Given the description of an element on the screen output the (x, y) to click on. 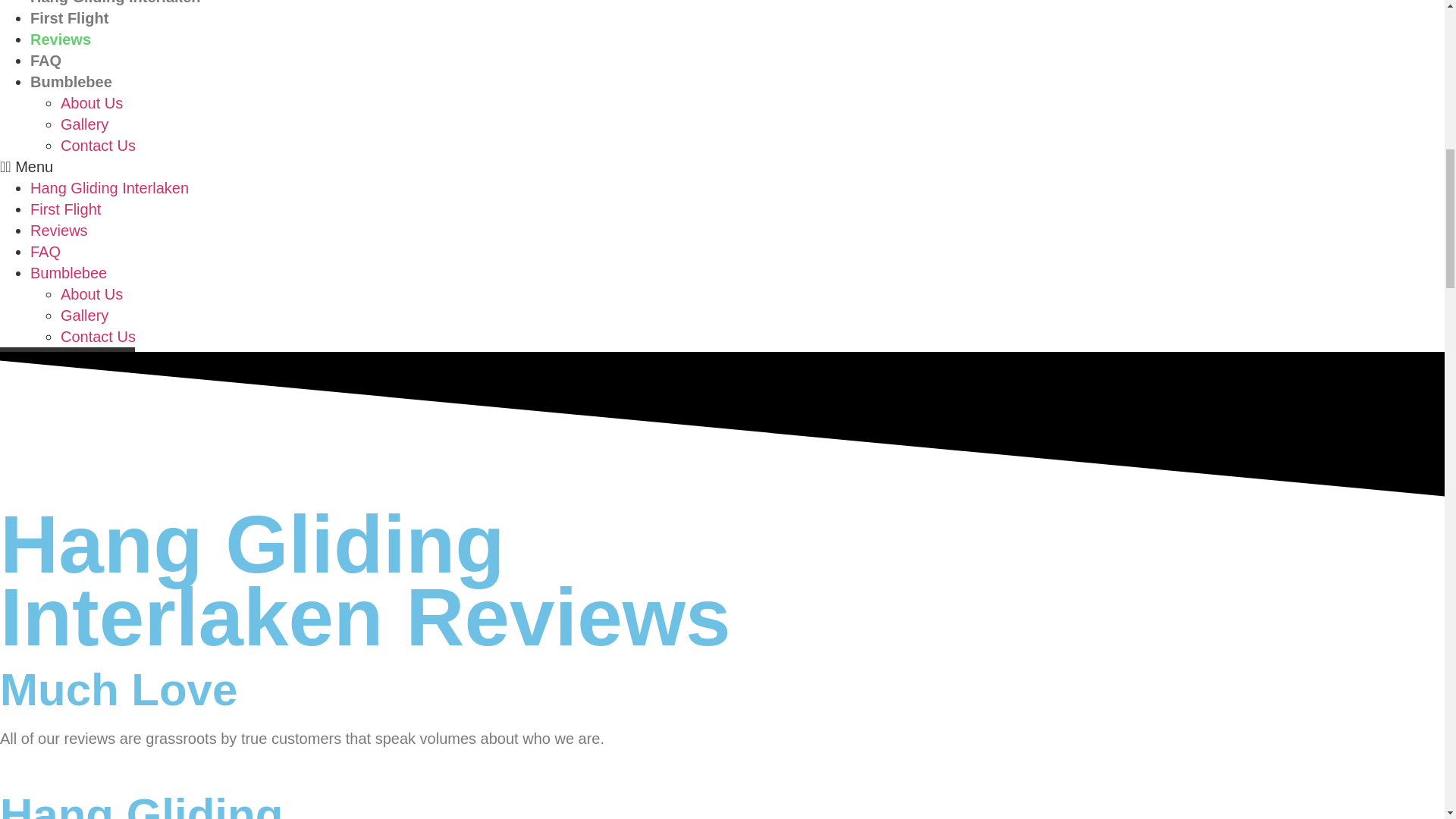
FAQ (45, 60)
Bumblebee (68, 272)
Gallery (84, 124)
Hang Gliding Interlaken (115, 2)
Gallery (84, 315)
Reviews (60, 39)
Contact Us (98, 145)
About Us (91, 103)
First Flight (65, 208)
FAQ (45, 251)
Bumblebee (71, 81)
Contact Us (98, 336)
Reviews (58, 230)
First Flight (68, 17)
Hang Gliding Interlaken (109, 187)
